Given the description of an element on the screen output the (x, y) to click on. 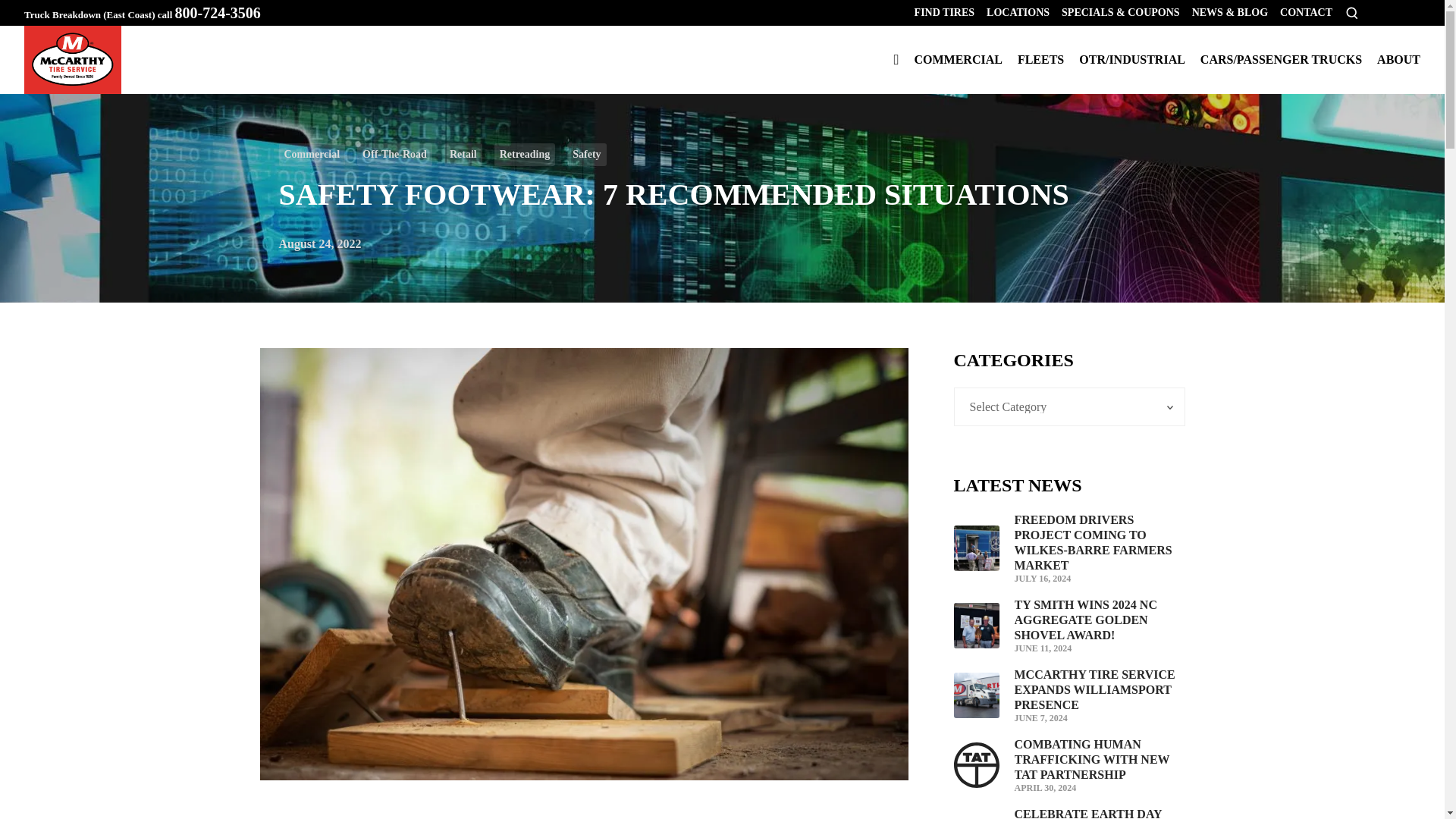
LOCATIONS (1018, 12)
FLEETS (1040, 59)
Combating Human Trafficking with New TAT Partnership (1099, 759)
CONTACT (1305, 12)
800-724-3506 (217, 12)
Ty Smith Wins 2024 NC Aggregate Golden Shovel Award! (1099, 619)
COMMERCIAL (957, 59)
